Given the description of an element on the screen output the (x, y) to click on. 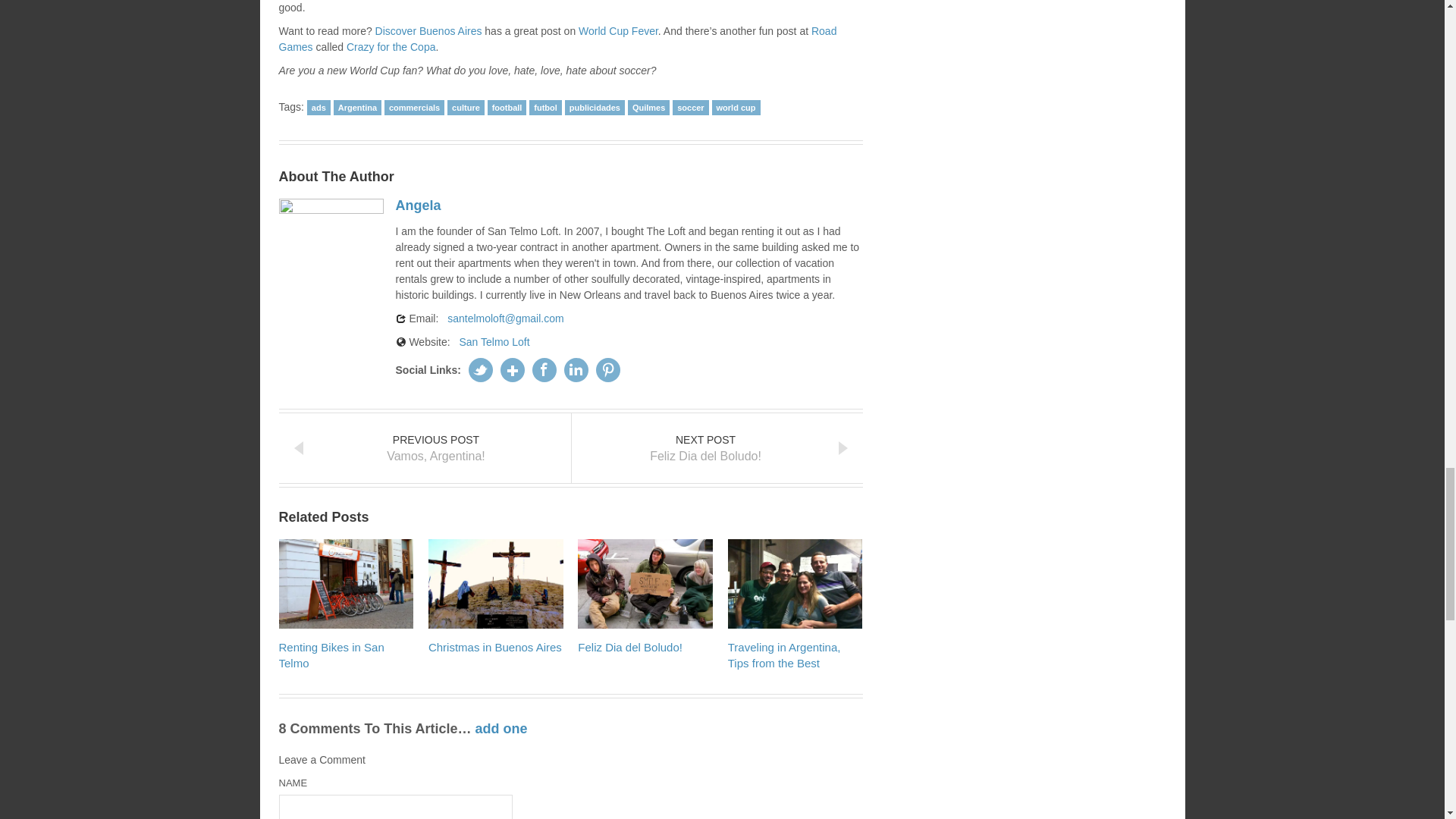
Discover Buenos Aires (428, 30)
Road Games (558, 39)
Road Games (558, 39)
ads (318, 107)
Discover Buenos Aires (428, 30)
World Cup Fever (618, 30)
Crazy Copa (390, 46)
Posts by Angela (421, 205)
Argentina (357, 107)
Send a private message via email (505, 318)
World Cup Fever (618, 30)
Crazy for the Copa (390, 46)
